Given the description of an element on the screen output the (x, y) to click on. 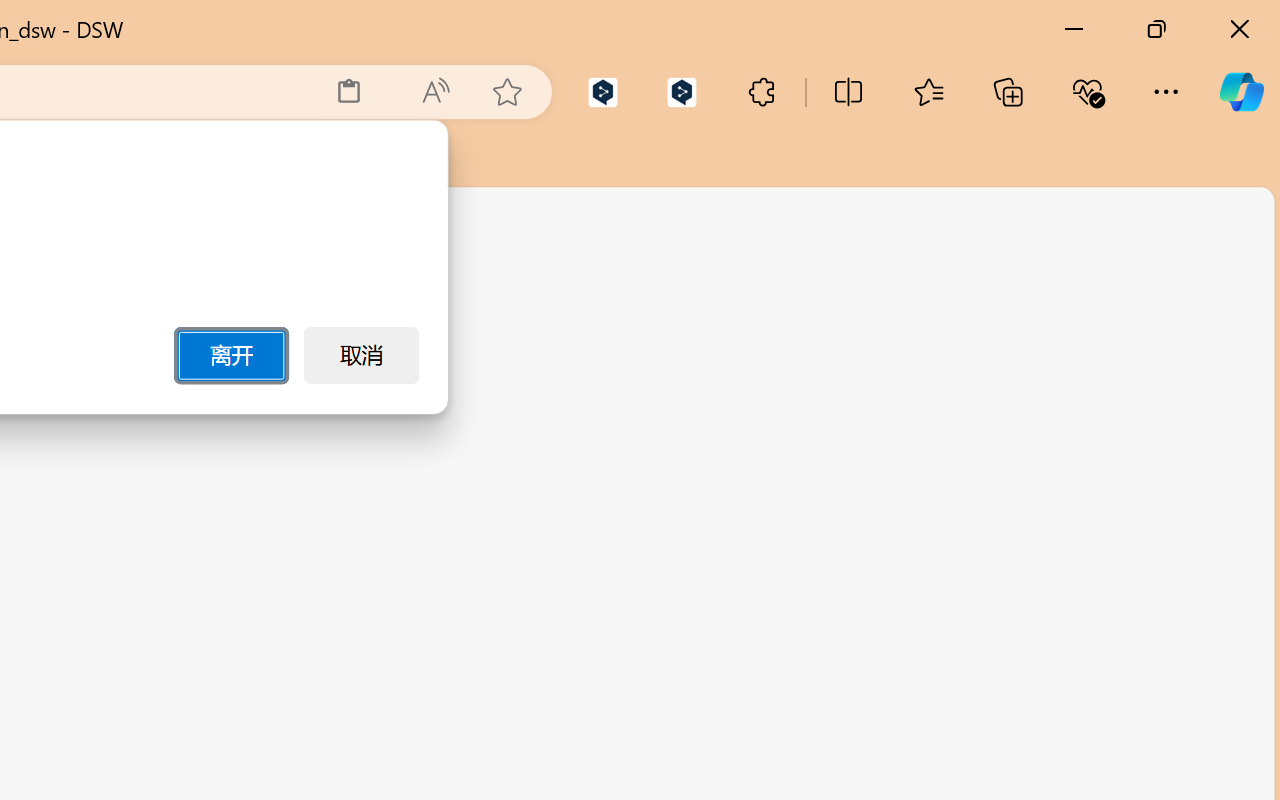
Copilot (Ctrl+Shift+.) (1241, 91)
